Given the description of an element on the screen output the (x, y) to click on. 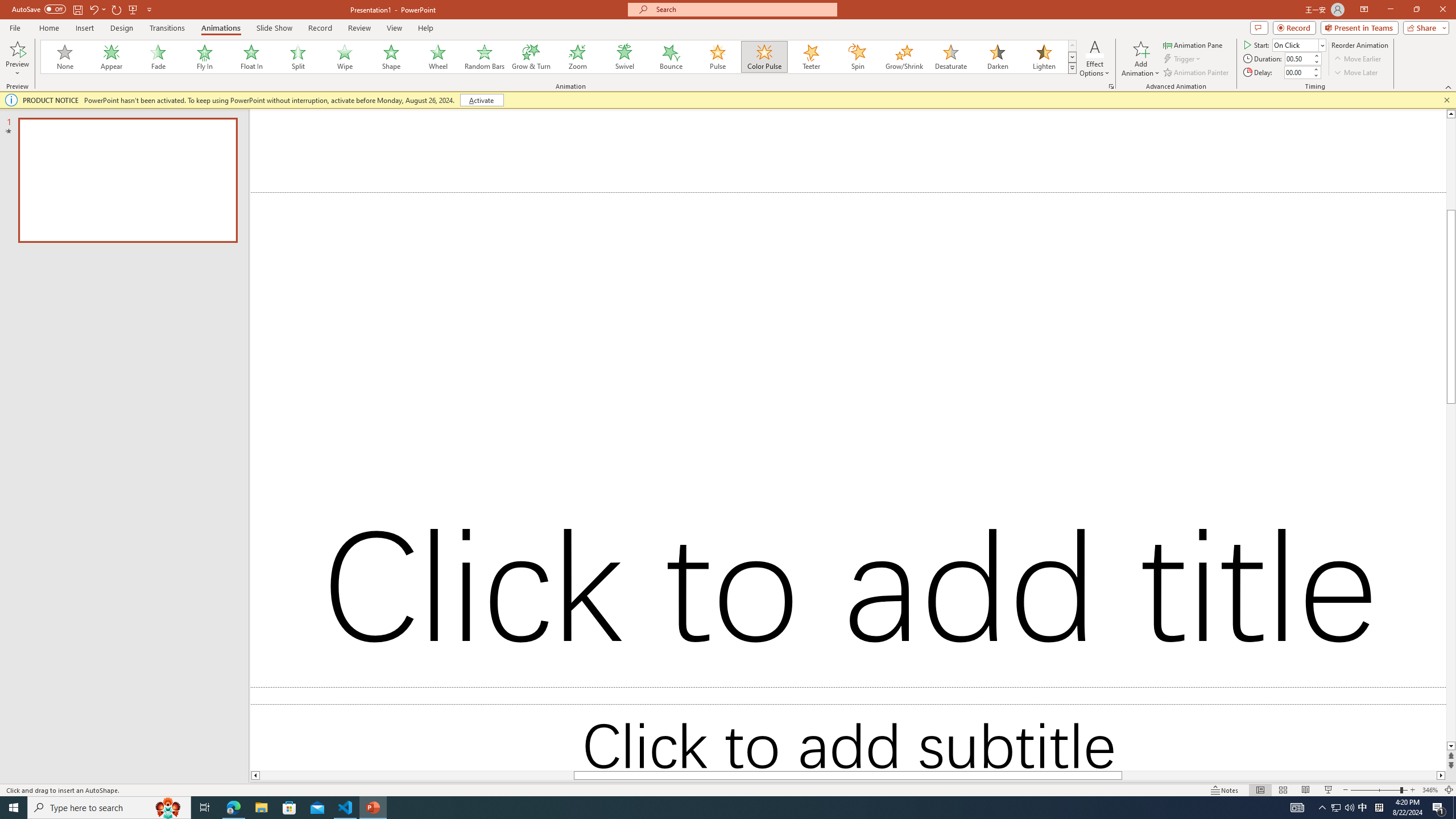
Wheel (437, 56)
Grow/Shrink (903, 56)
Desaturate (950, 56)
Shape (391, 56)
Trigger (1182, 58)
Move Earlier (1357, 58)
